Given the description of an element on the screen output the (x, y) to click on. 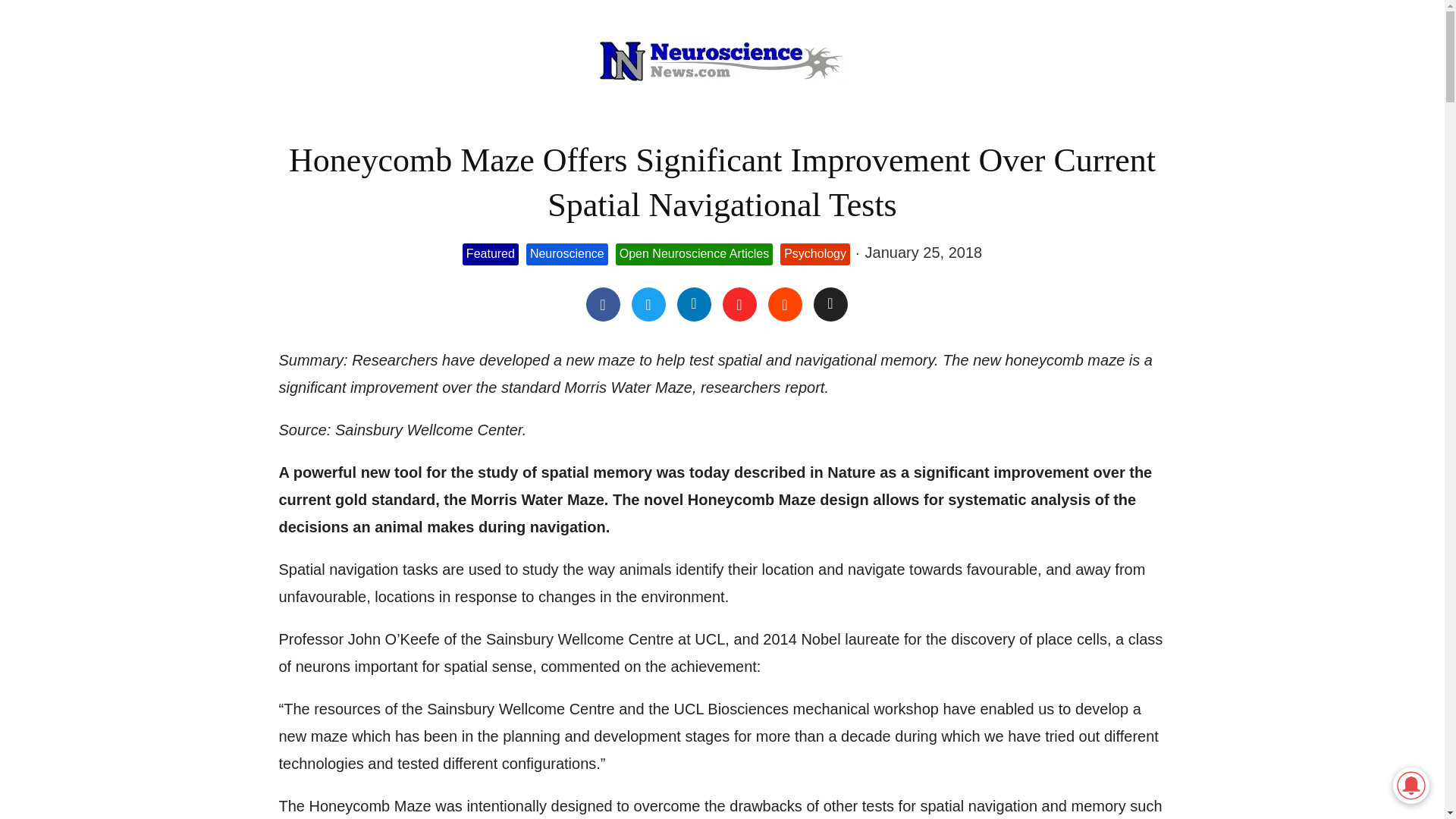
Featured (490, 254)
Neuroscience (566, 254)
Open Neuroscience Articles (694, 254)
Psychology (815, 254)
